Given the description of an element on the screen output the (x, y) to click on. 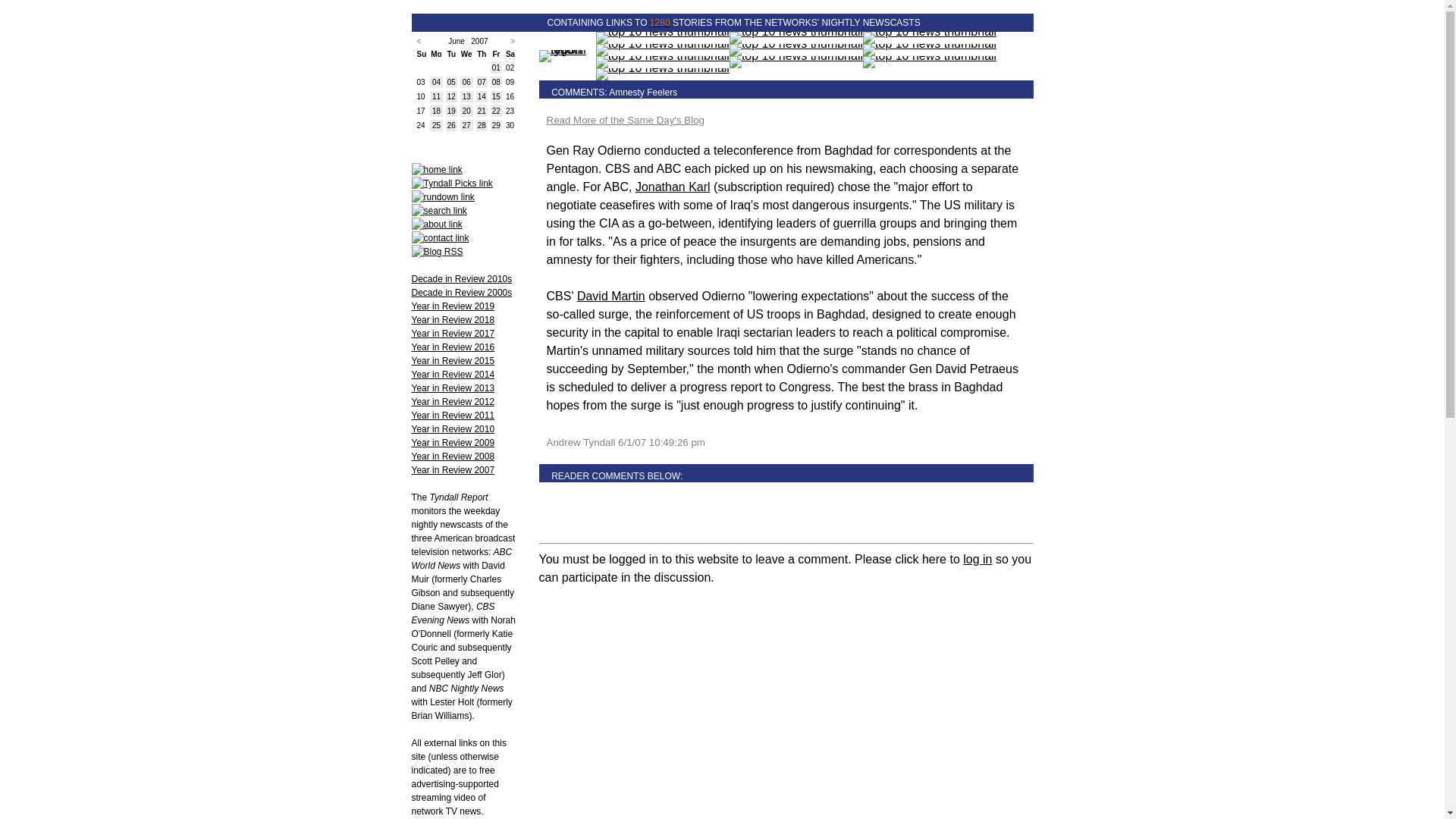
David Martin (610, 295)
Jonathan Karl (672, 186)
18 (436, 111)
05 (450, 81)
25 (436, 125)
12 (450, 96)
04 (436, 81)
01 (496, 67)
20 (466, 111)
07 (481, 81)
